Given the description of an element on the screen output the (x, y) to click on. 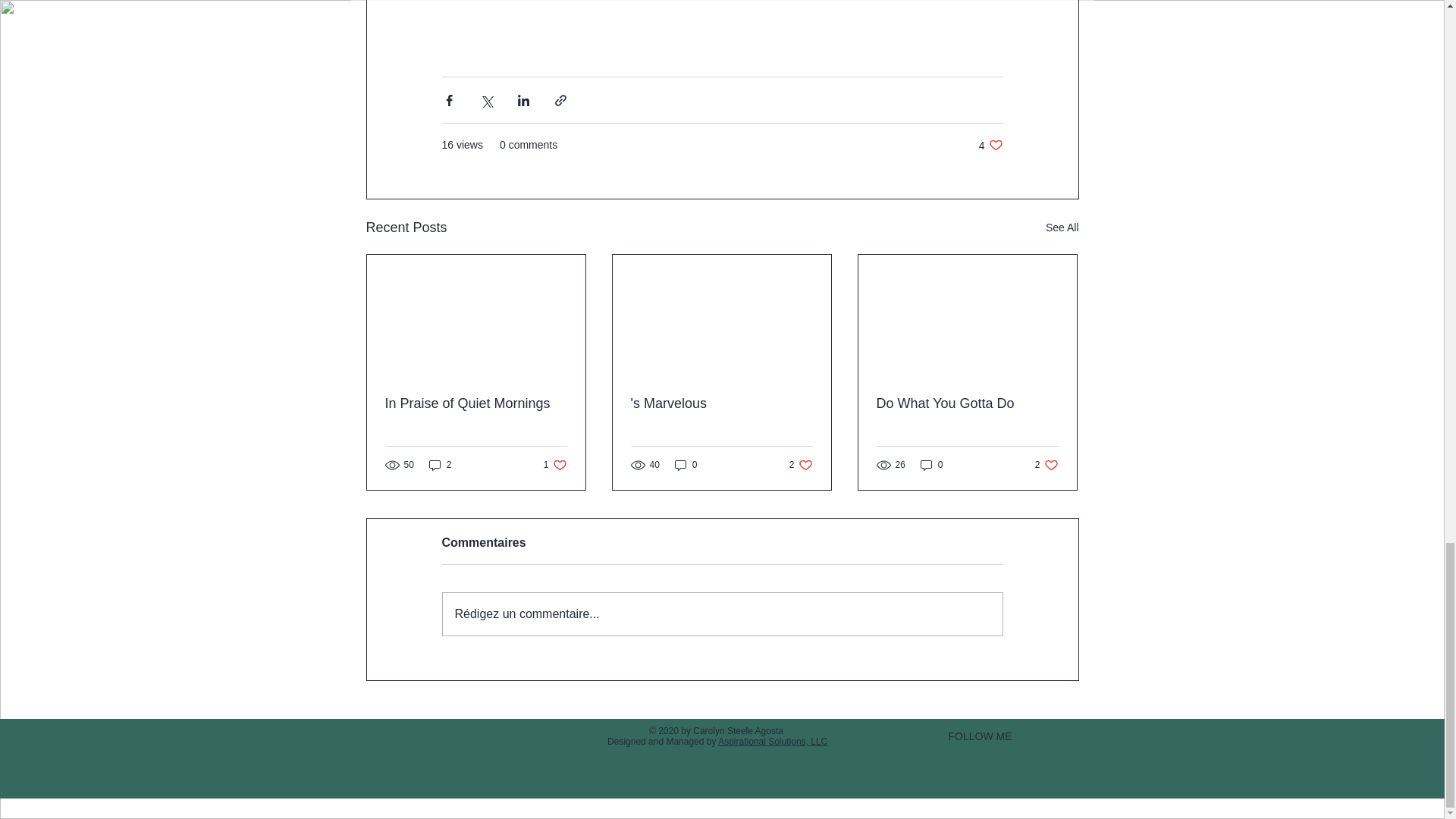
Aspirational Solutions, LLC (800, 464)
0 (772, 741)
2 (685, 464)
0 (440, 464)
In Praise of Quiet Mornings (990, 145)
Do What You Gotta Do (931, 464)
See All (476, 403)
's Marvelous (967, 403)
